Given the description of an element on the screen output the (x, y) to click on. 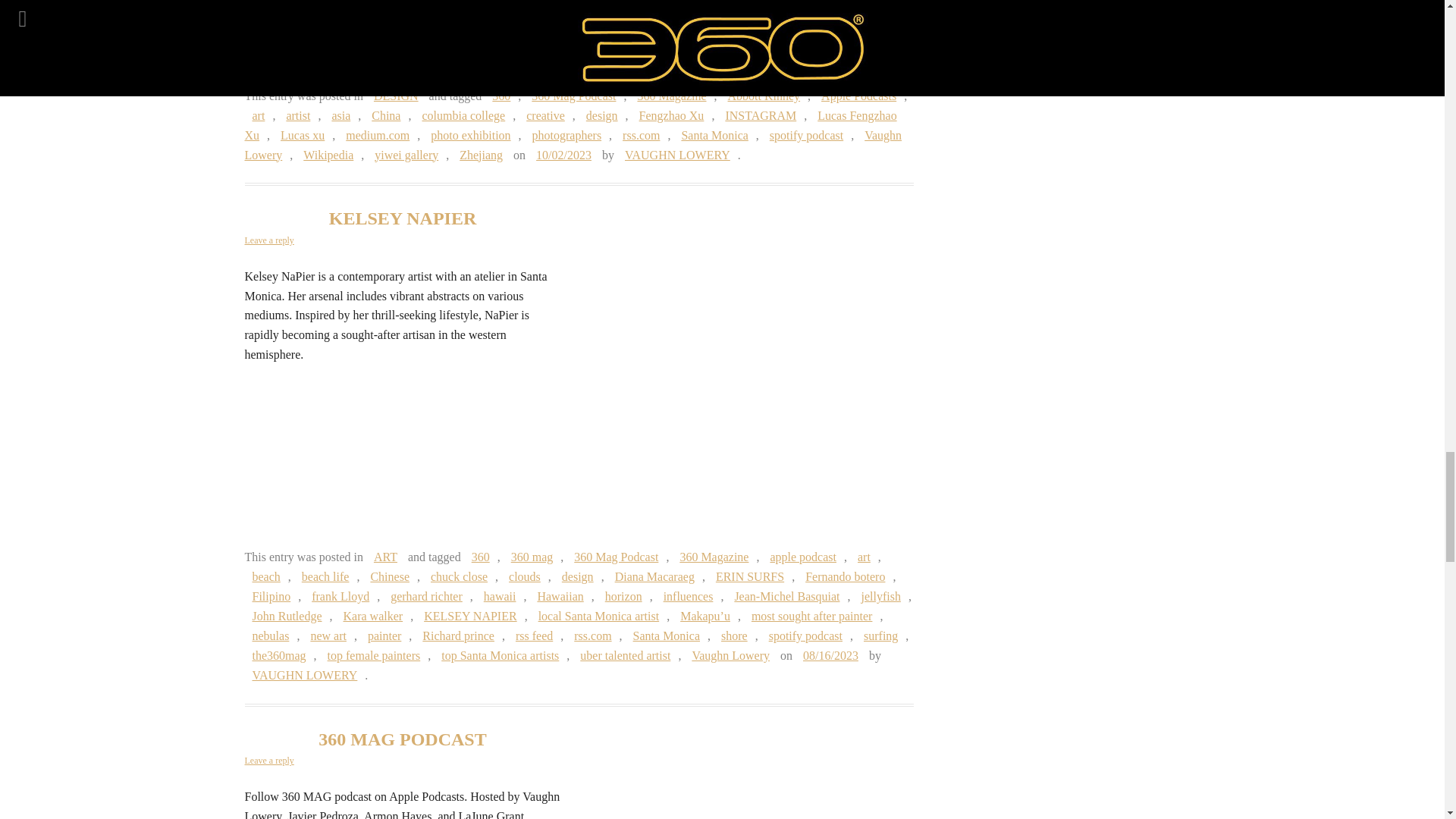
View all posts by VAUGHN LOWERY (304, 675)
2:18 am (830, 655)
8:41 pm (563, 154)
View all posts by VAUGHN LOWERY (677, 154)
